Given the description of an element on the screen output the (x, y) to click on. 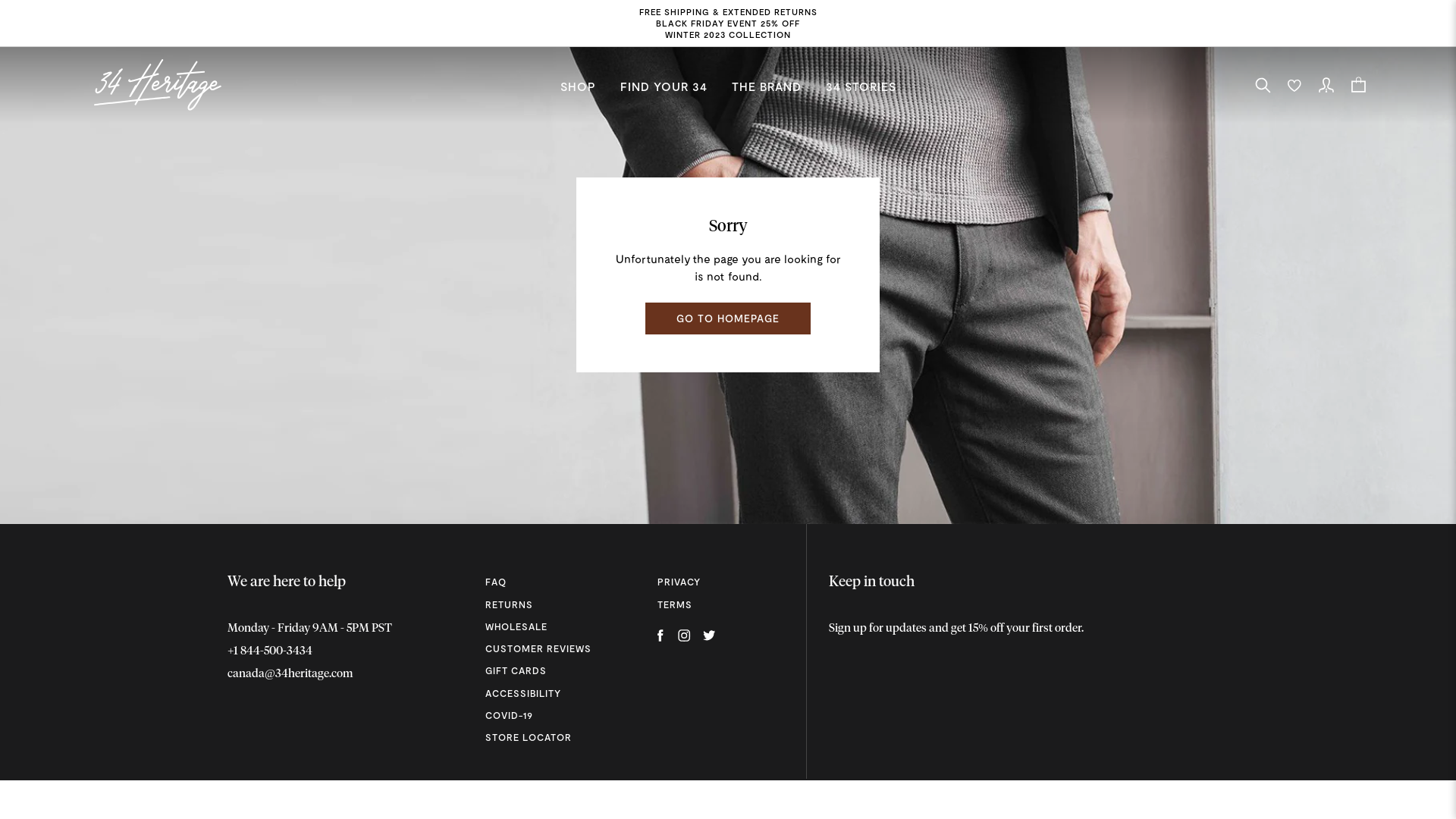
WHOLESALE Element type: text (556, 626)
FREE SHIPPING & EXTENDED RETURNS Element type: text (727, 11)
Cart Element type: text (1358, 84)
      Element type: text (157, 84)
SHOP Element type: text (577, 86)
Account Element type: text (1326, 84)
canada@34heritage.com Element type: text (289, 673)
TERMS Element type: text (728, 604)
BLACK FRIDAY EVENT 25% OFF Element type: text (727, 22)
GO TO HOMEPAGE Element type: text (727, 318)
RETURNS Element type: text (556, 604)
GIFT CARDS Element type: text (556, 670)
Wishlist Element type: text (1294, 84)
PRIVACY Element type: text (728, 581)
FIND YOUR 34 Element type: text (663, 86)
Facebook Element type: text (661, 636)
COVID-19 Element type: text (556, 715)
34 STORIES Element type: text (860, 86)
CUSTOMER REVIEWS Element type: text (556, 648)
THE BRAND Element type: text (765, 86)
Instagram Element type: text (685, 636)
ACCESSIBILITY Element type: text (556, 693)
STORE LOCATOR Element type: text (556, 737)
Search Element type: text (1262, 84)
Twitter Element type: text (709, 636)
WINTER 2023 COLLECTION Element type: text (727, 34)
FAQ Element type: text (556, 581)
